Given the description of an element on the screen output the (x, y) to click on. 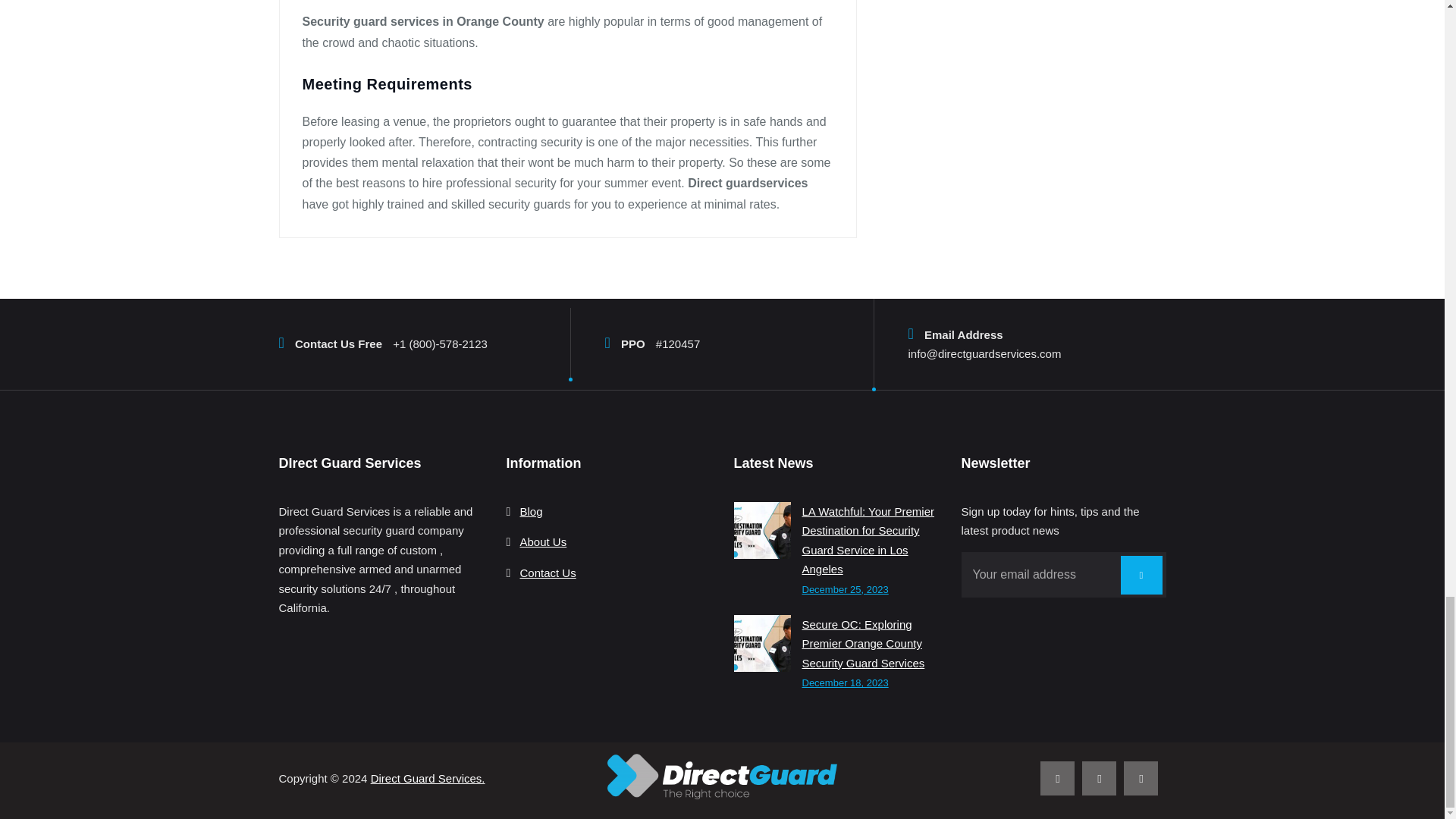
Direct Guard Services (722, 776)
